Given the description of an element on the screen output the (x, y) to click on. 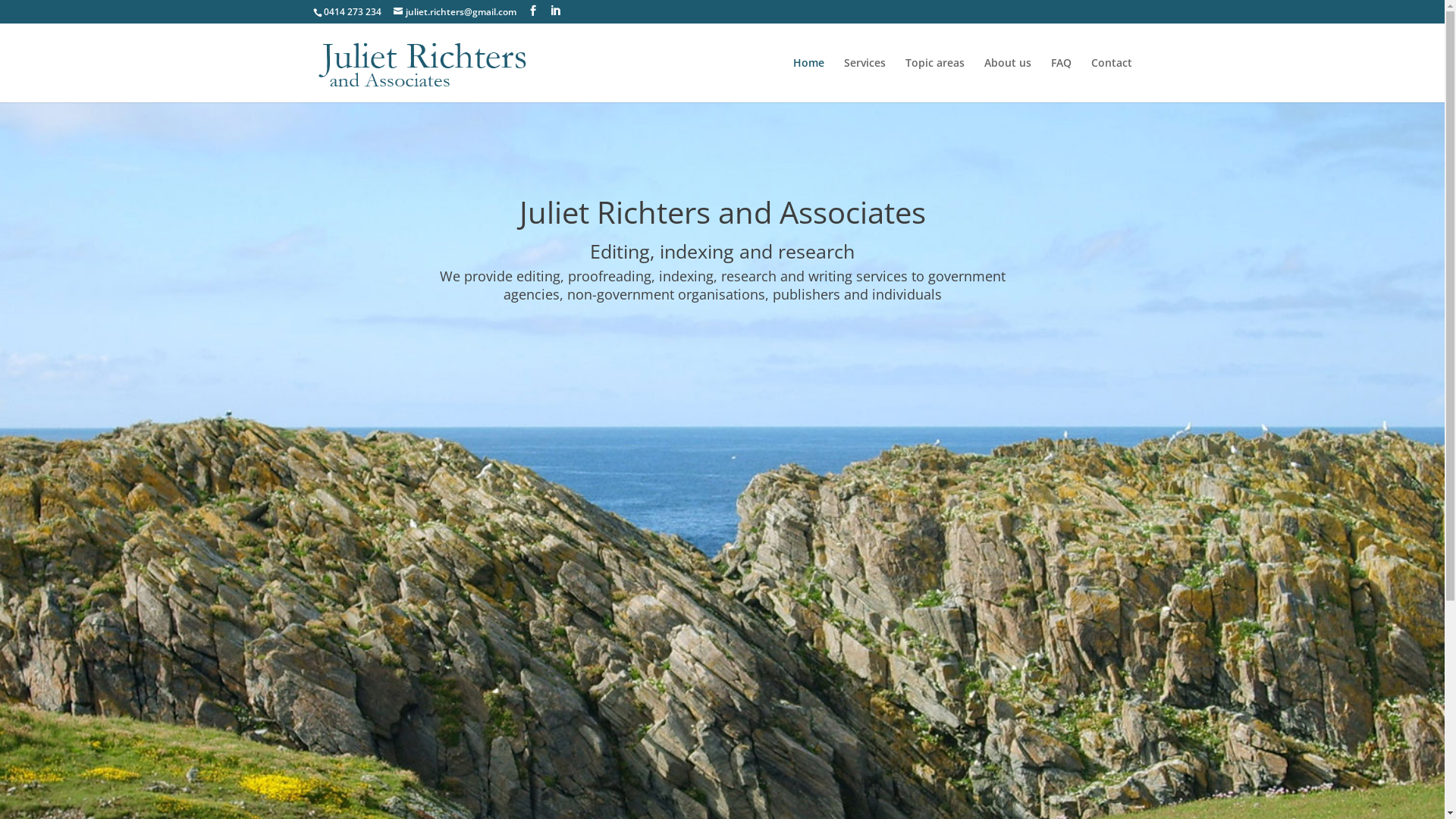
Home Element type: text (808, 79)
Services Element type: text (863, 79)
Topic areas Element type: text (934, 79)
FAQ Element type: text (1061, 79)
juliet.richters@gmail.com Element type: text (453, 11)
About us Element type: text (1007, 79)
Contact Element type: text (1110, 79)
